Given the description of an element on the screen output the (x, y) to click on. 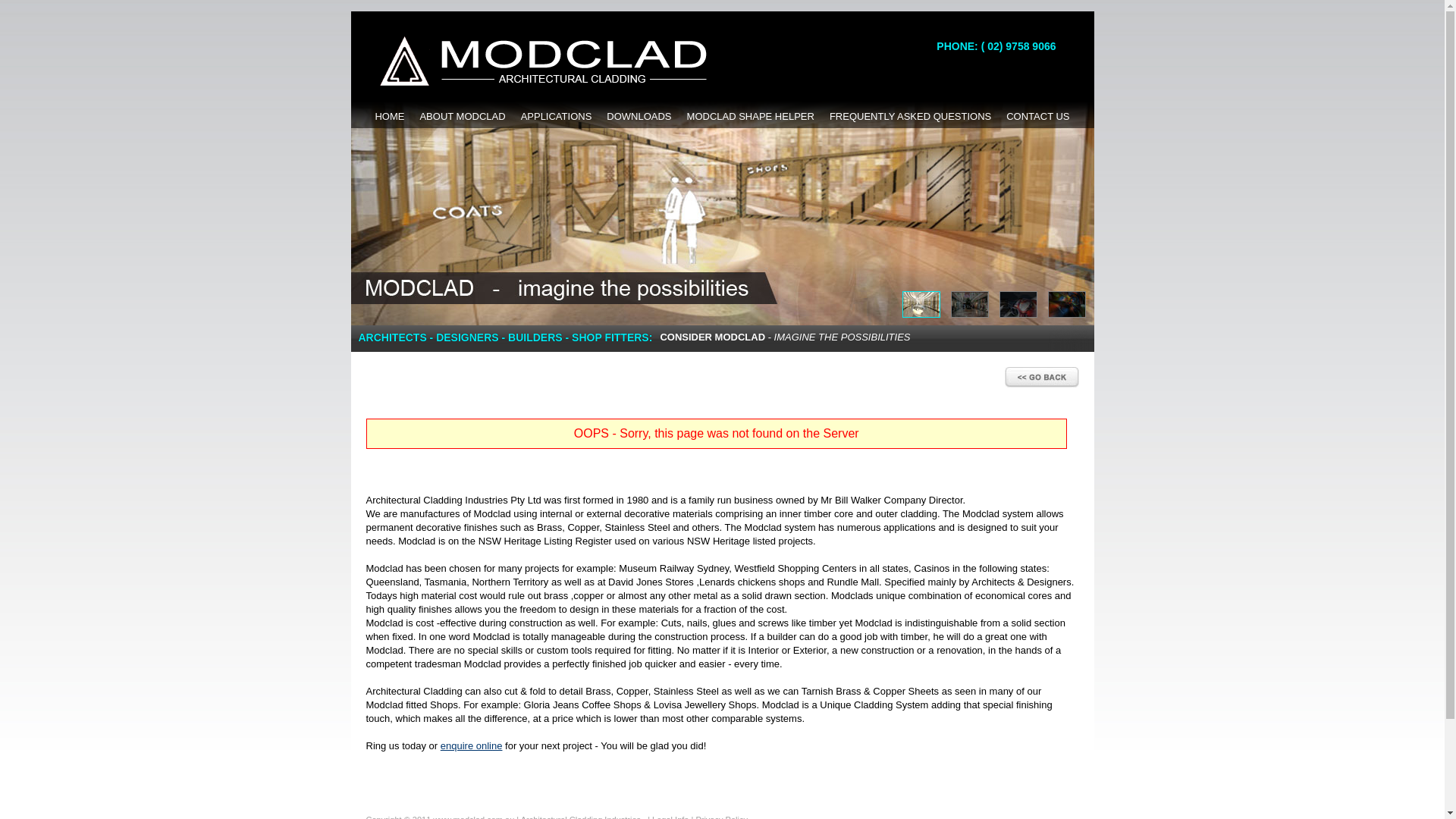
HOME Element type: text (389, 116)
DOWNLOADS Element type: text (638, 116)
CONTACT US Element type: text (1037, 116)
enquire online Element type: text (471, 745)
CONSIDER MODCLAD - IMAGINE THE POSSIBILITIES Element type: text (784, 336)
ABOUT MODCLAD Element type: text (462, 116)
FREQUENTLY ASKED QUESTIONS Element type: text (910, 116)
APPLICATIONS Element type: text (556, 116)
MODCLAD SHAPE HELPER Element type: text (750, 116)
